Given the description of an element on the screen output the (x, y) to click on. 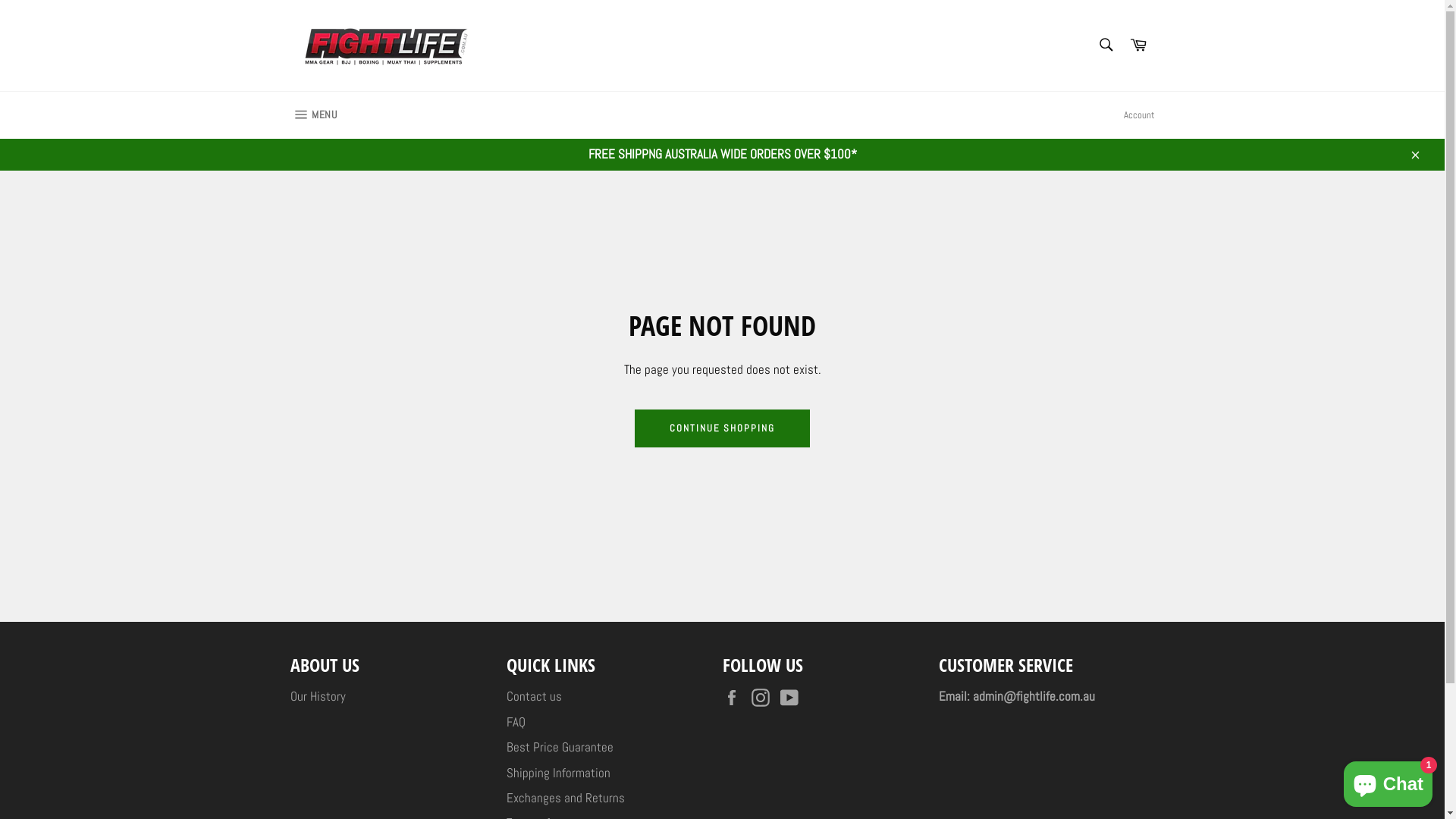
Close Element type: text (1414, 154)
Facebook Element type: text (734, 696)
Cart Element type: text (1138, 45)
Contact us Element type: text (533, 695)
Shopify online store chat Element type: hover (1388, 780)
Exchanges and Returns Element type: text (565, 797)
FAQ Element type: text (515, 721)
Account Element type: text (1139, 115)
YouTube Element type: text (792, 696)
MENU
SITE NAVIGATION Element type: text (312, 114)
Our History Element type: text (317, 695)
Best Price Guarantee Element type: text (559, 746)
Instagram Element type: text (763, 696)
CONTINUE SHOPPING Element type: text (721, 428)
Shipping Information Element type: text (558, 772)
Search Element type: text (1105, 44)
